Given the description of an element on the screen output the (x, y) to click on. 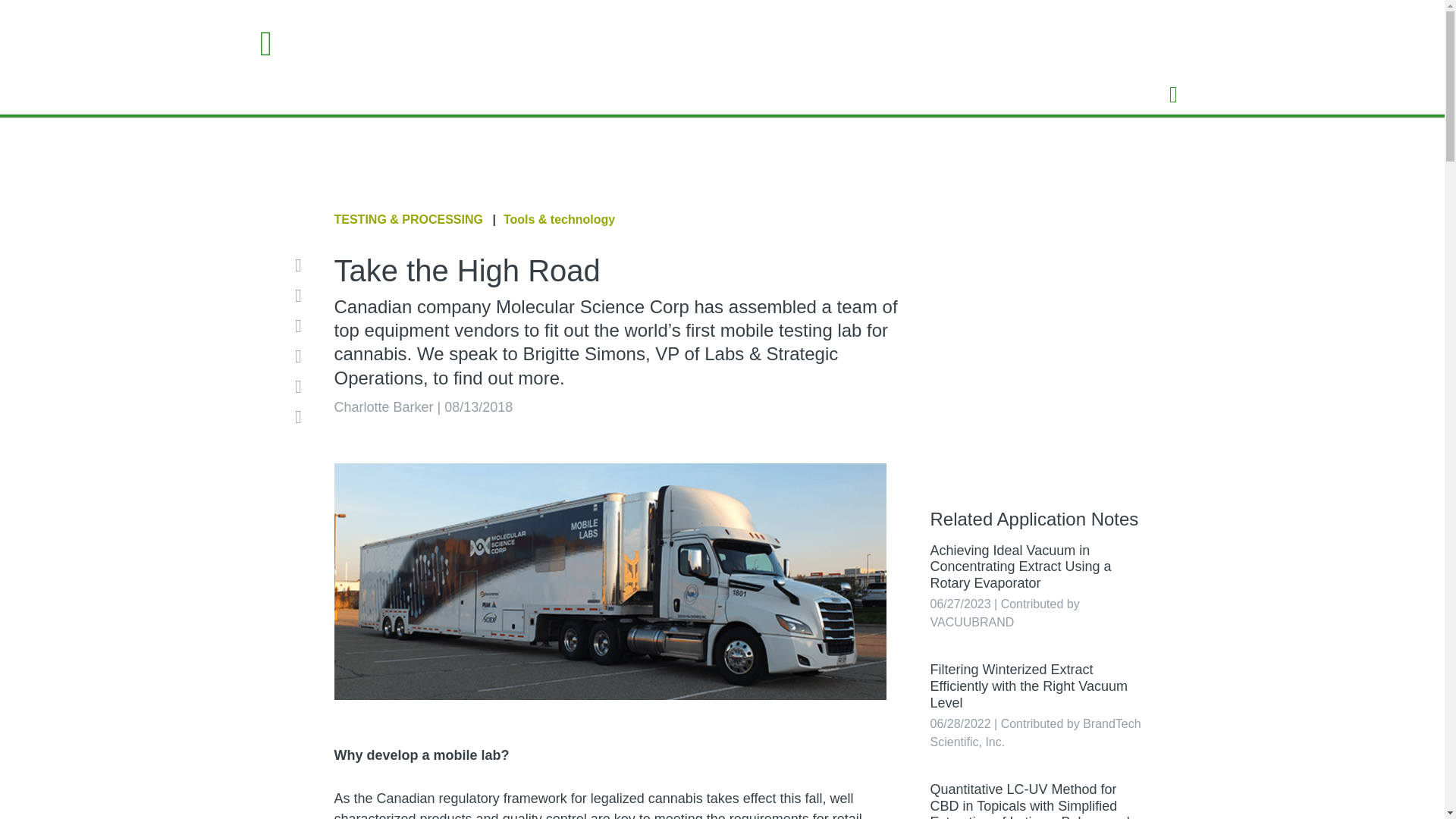
Print this article (302, 416)
Charlotte Barker (382, 406)
Share this article on LinkedIn (302, 325)
Share this article on Facebook (302, 295)
Share this article on Doximity (302, 386)
Share this article by email (302, 264)
Share this article on X (302, 355)
